Given the description of an element on the screen output the (x, y) to click on. 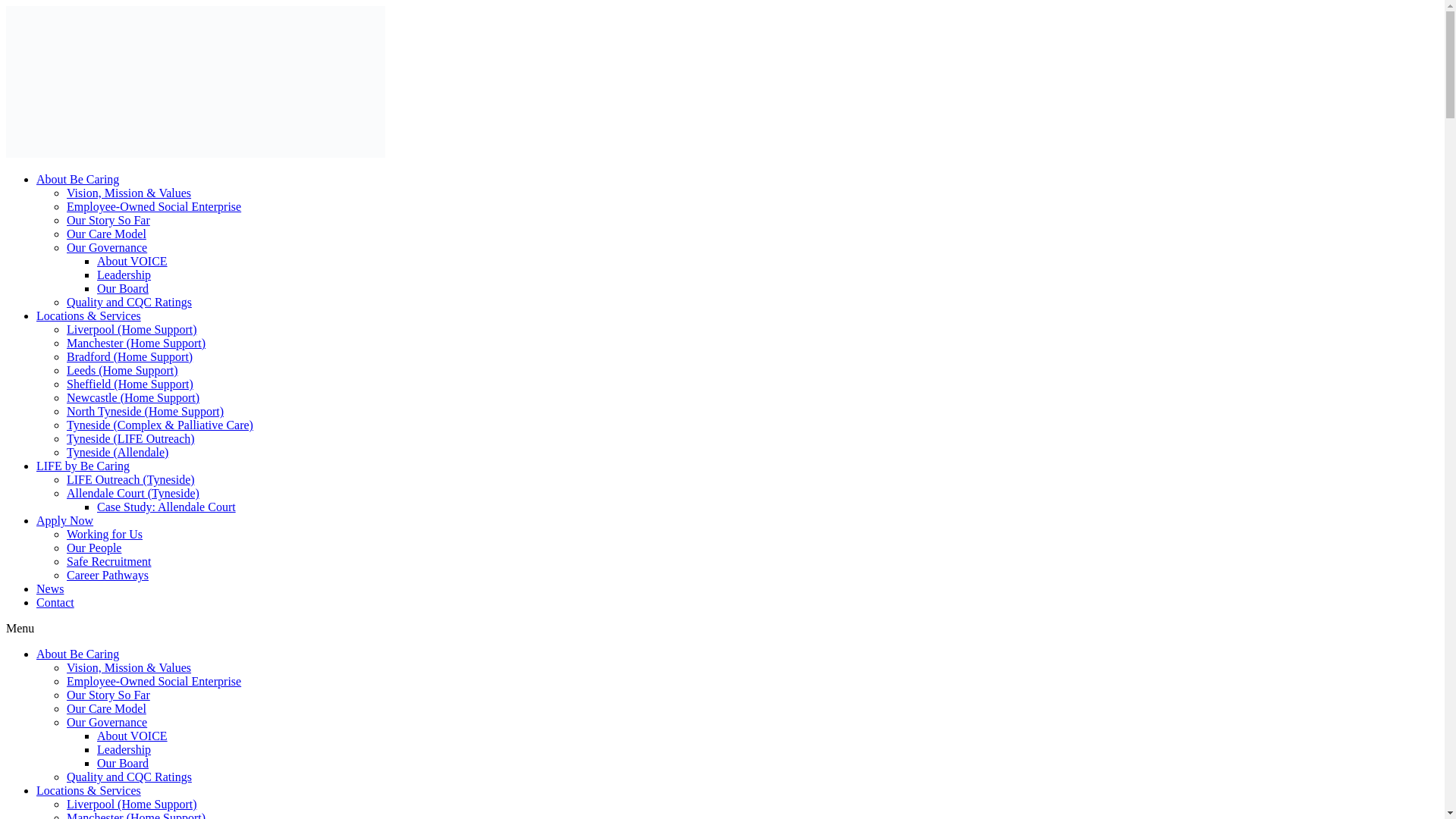
Employee-Owned Social Enterprise (153, 205)
Career Pathways (107, 574)
Employee-Owned Social Enterprise (153, 680)
Apply Now (64, 520)
About Be Caring (77, 653)
About VOICE (132, 260)
Our People (93, 547)
Our Board (122, 287)
Case Study: Allendale Court (166, 506)
LIFE by Be Caring (82, 465)
